Given the description of an element on the screen output the (x, y) to click on. 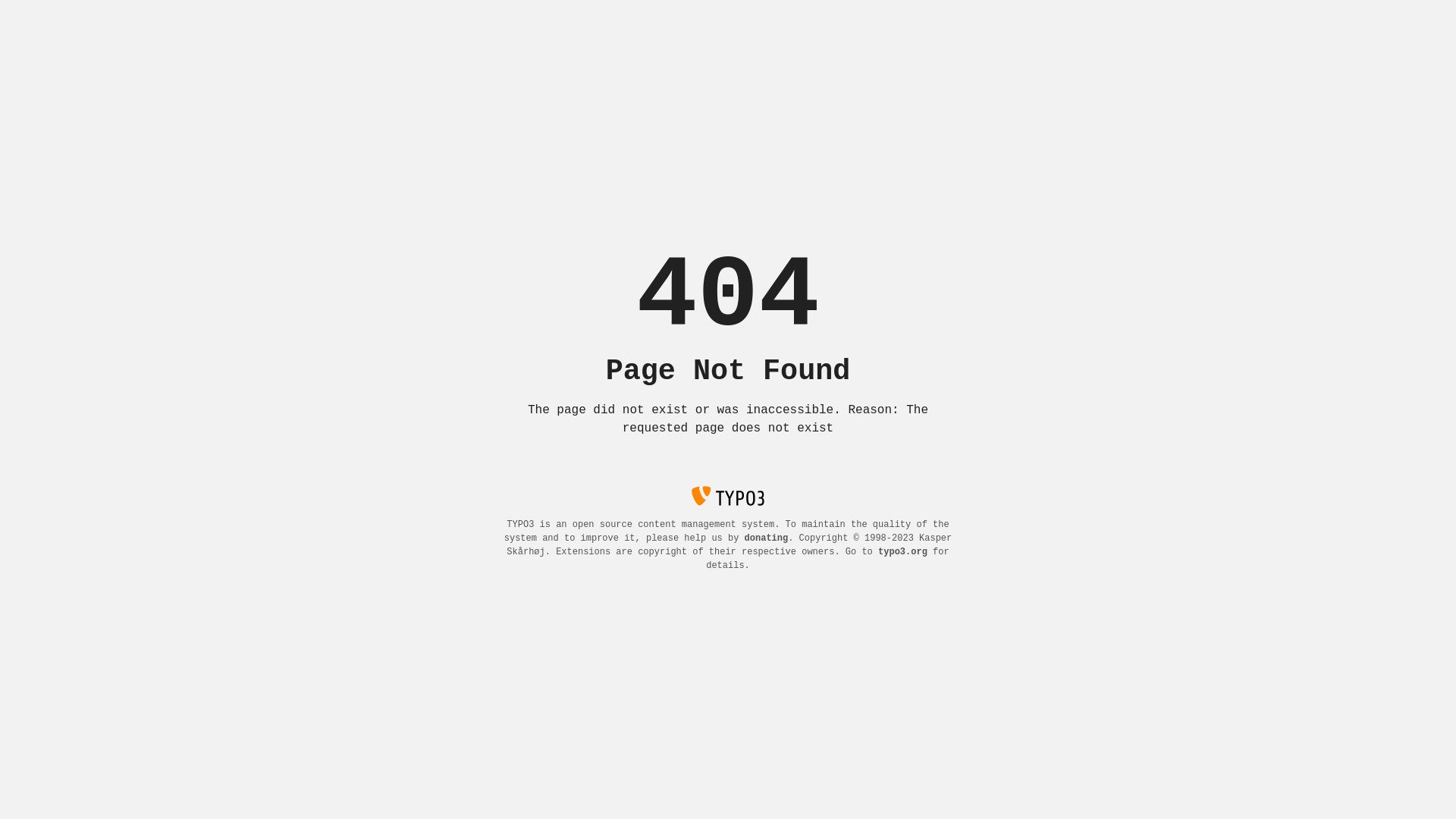
typo3.org Element type: text (902, 551)
donating Element type: text (766, 538)
